Given the description of an element on the screen output the (x, y) to click on. 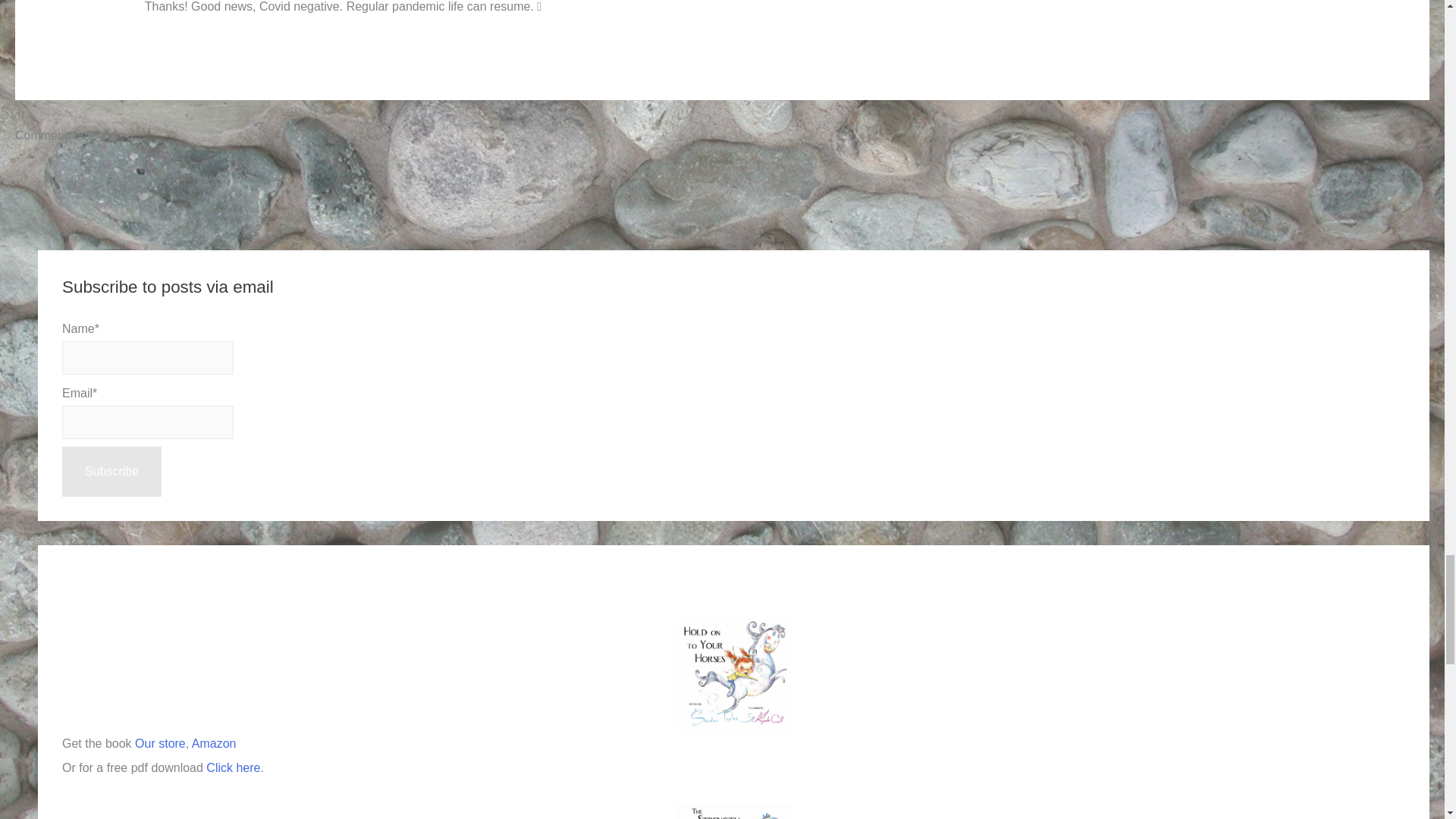
Amazon (213, 743)
Our store (160, 743)
Front Cover web (733, 675)
Click here (233, 767)
Subscribe (111, 471)
Front Cover web (733, 811)
Subscribe (111, 471)
